Given the description of an element on the screen output the (x, y) to click on. 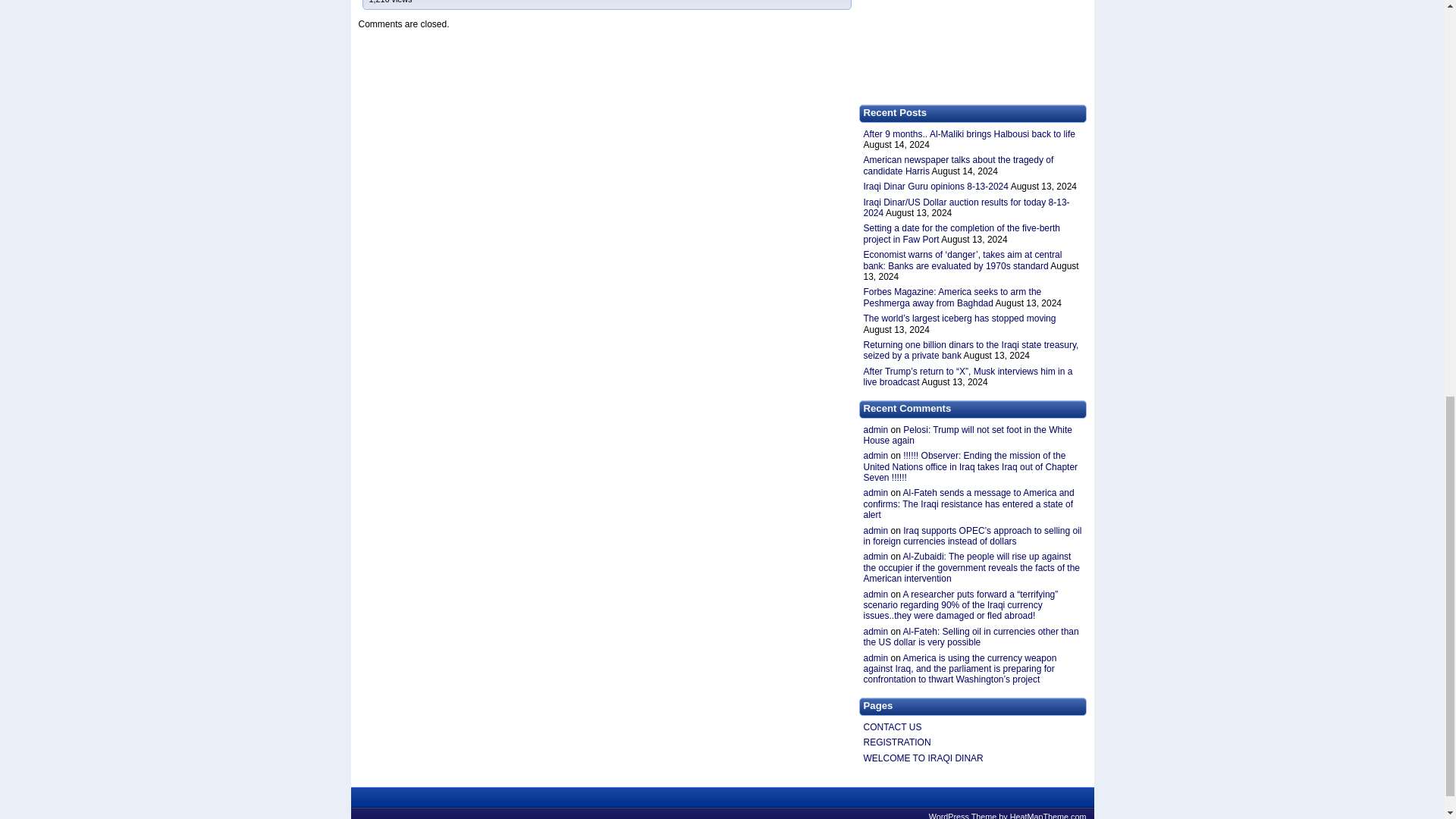
Advertisement (972, 48)
Iraqi Dinar Guru opinions 8-13-2024 (935, 185)
After 9 months.. Al-Maliki brings Halbousi back to life (968, 133)
admin (875, 429)
